Given the description of an element on the screen output the (x, y) to click on. 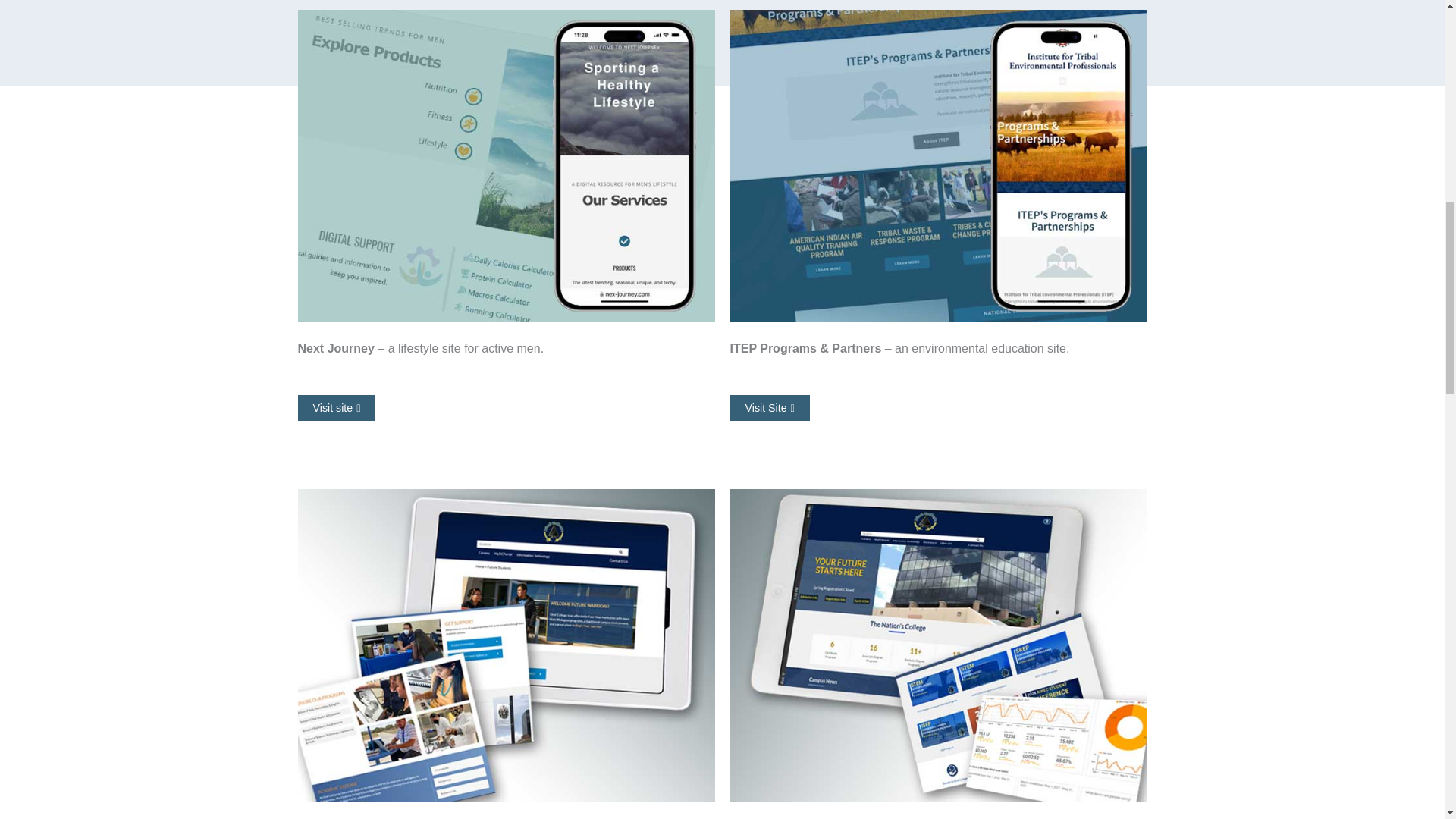
Visit Site (769, 407)
Visit site (336, 407)
